Given the description of an element on the screen output the (x, y) to click on. 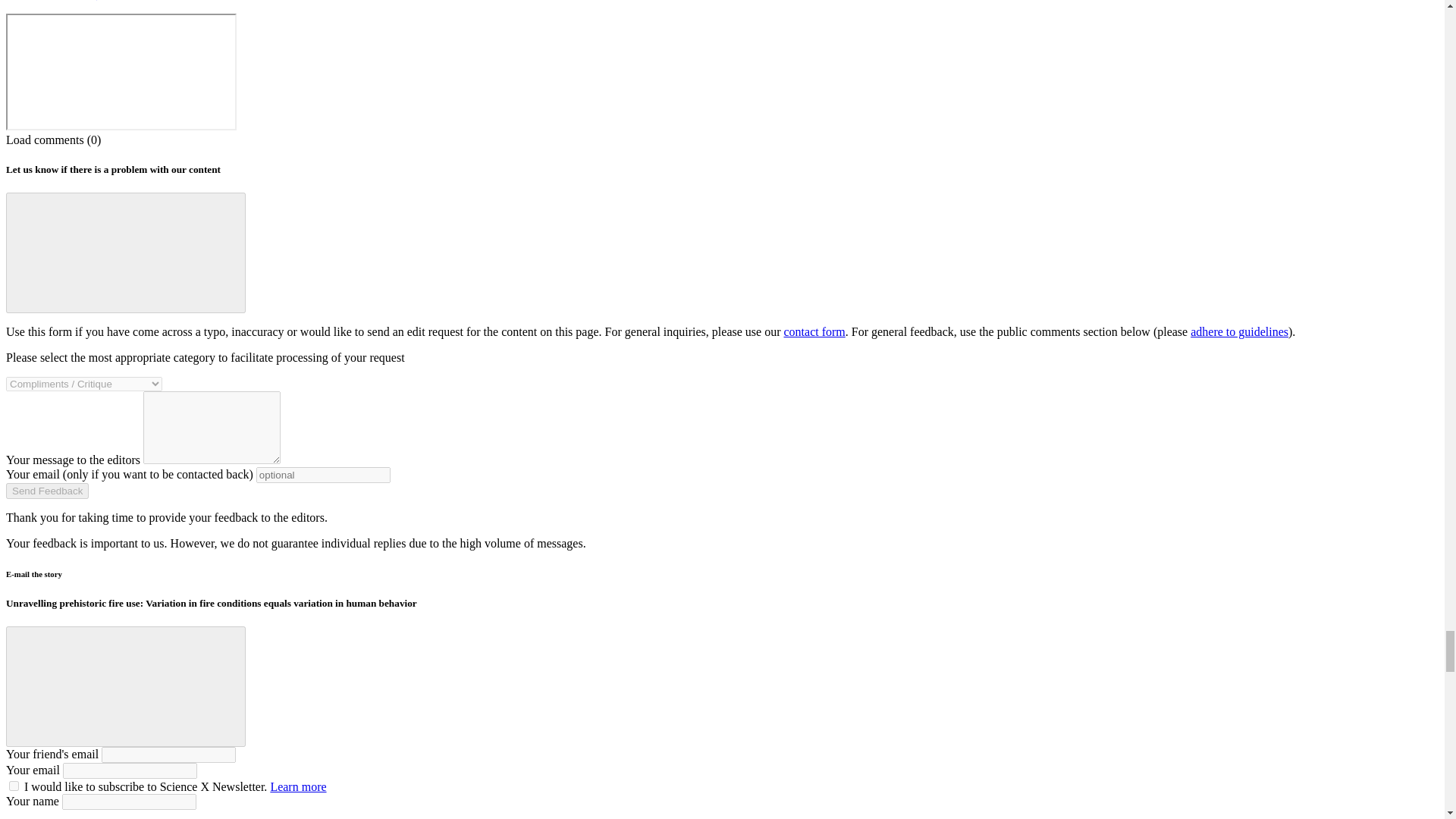
1 (13, 786)
